Given the description of an element on the screen output the (x, y) to click on. 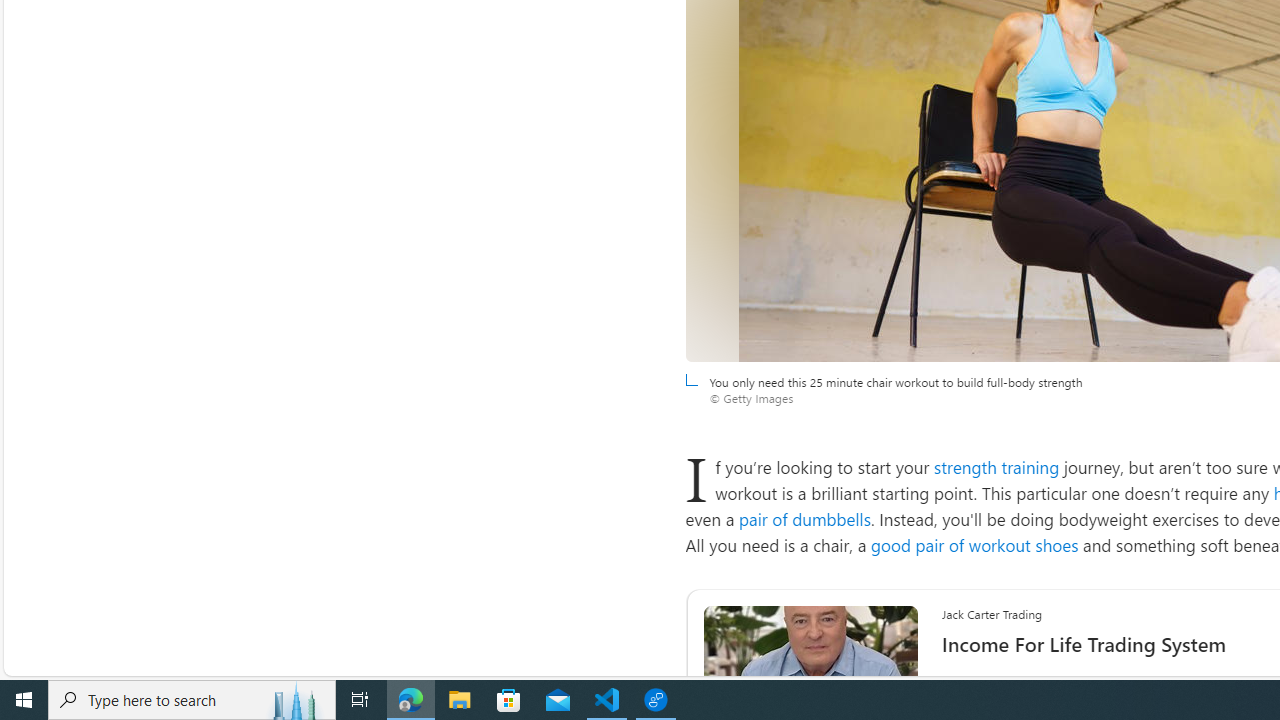
strength training (996, 466)
good pair of workout shoes (974, 544)
pair of dumbbells (804, 518)
